Given the description of an element on the screen output the (x, y) to click on. 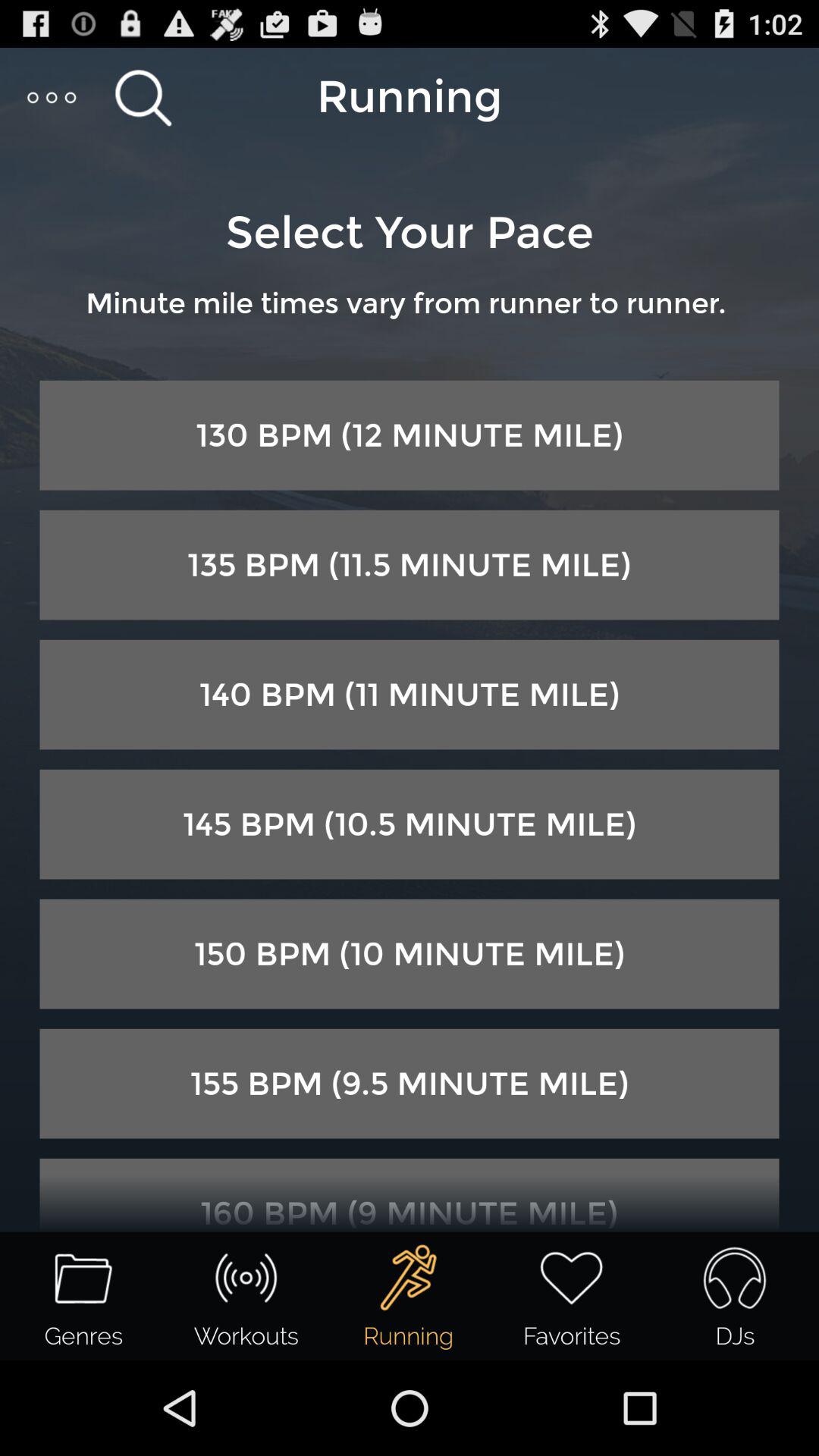
choose icon above 135 bpm 11 item (409, 435)
